Given the description of an element on the screen output the (x, y) to click on. 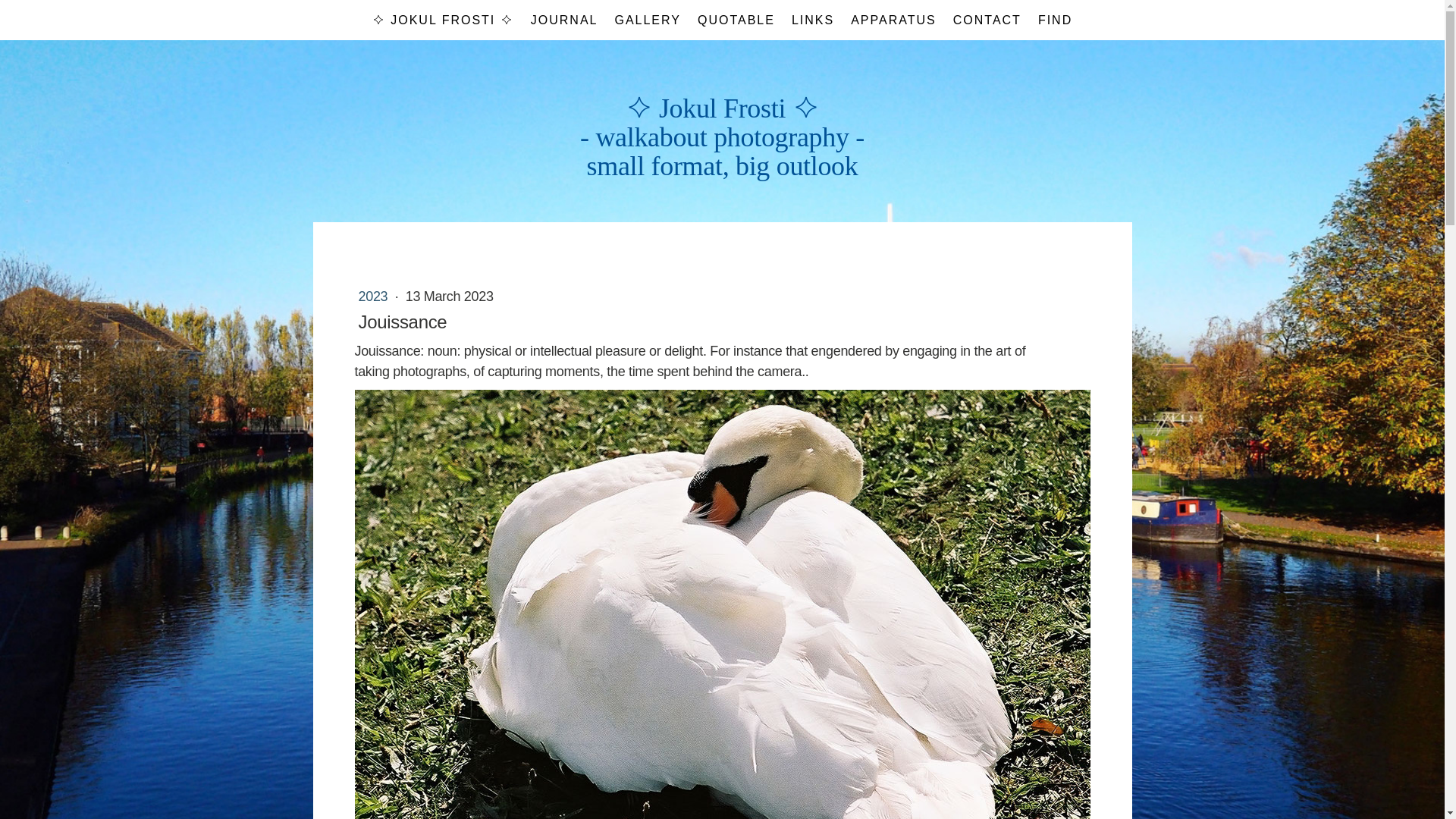
QUOTABLE (735, 20)
CONTACT (986, 20)
JOURNAL (564, 20)
GALLERY (646, 20)
LINKS (813, 20)
2023 (374, 296)
FIND (1054, 20)
APPARATUS (893, 20)
